Given the description of an element on the screen output the (x, y) to click on. 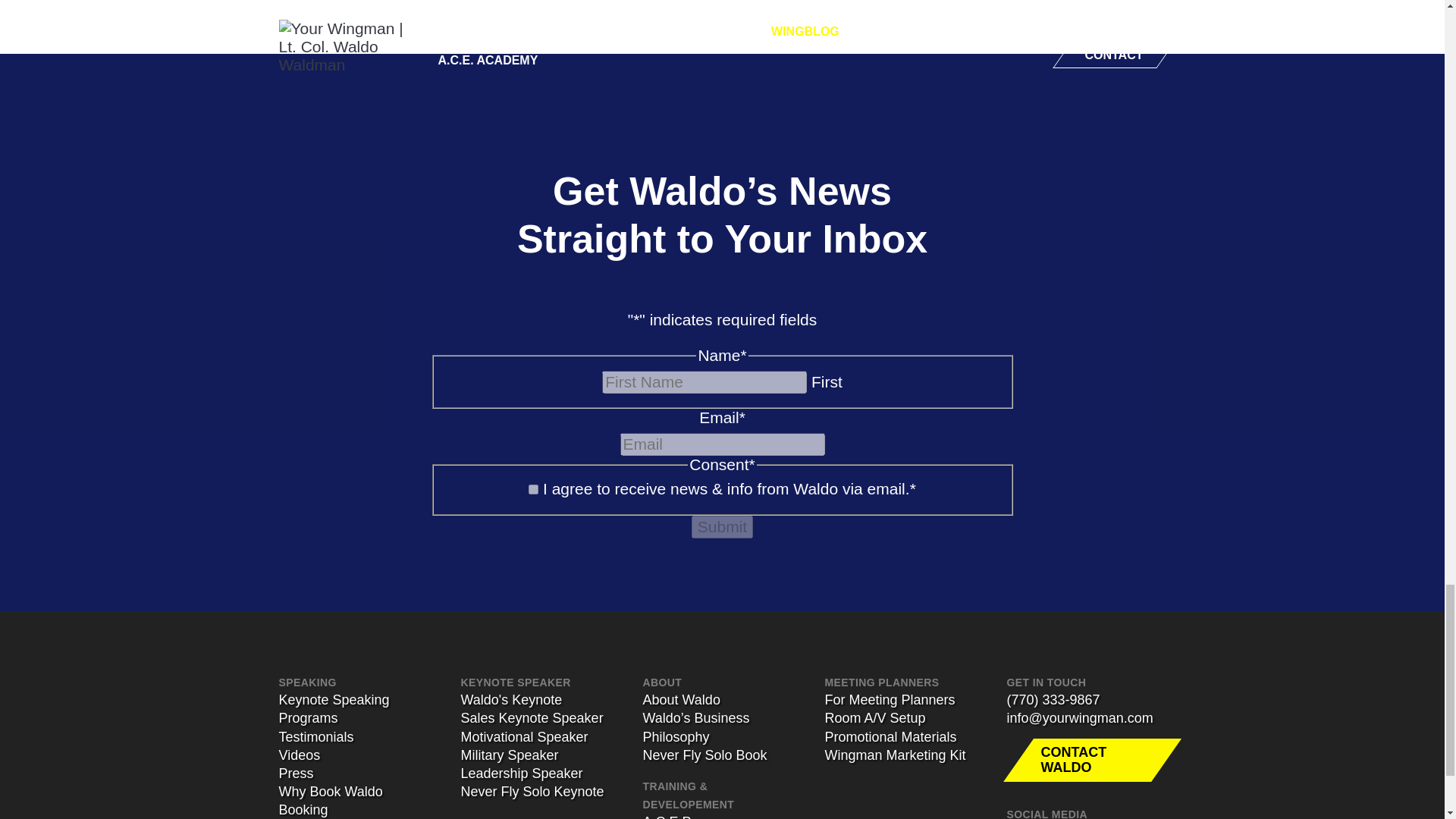
Submit (721, 526)
1 (533, 489)
